Given the description of an element on the screen output the (x, y) to click on. 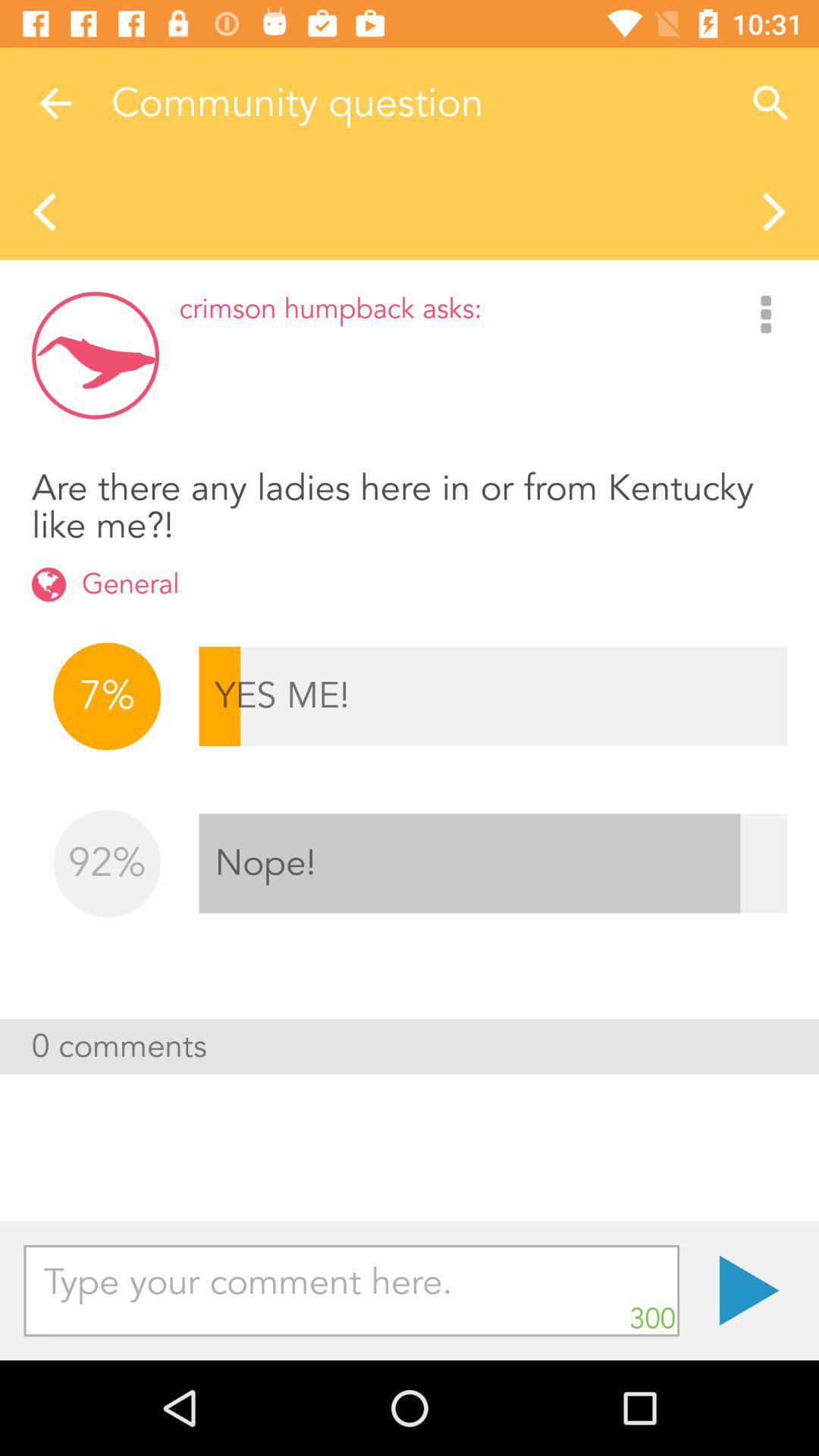
launch the item next to the community question item (55, 103)
